Given the description of an element on the screen output the (x, y) to click on. 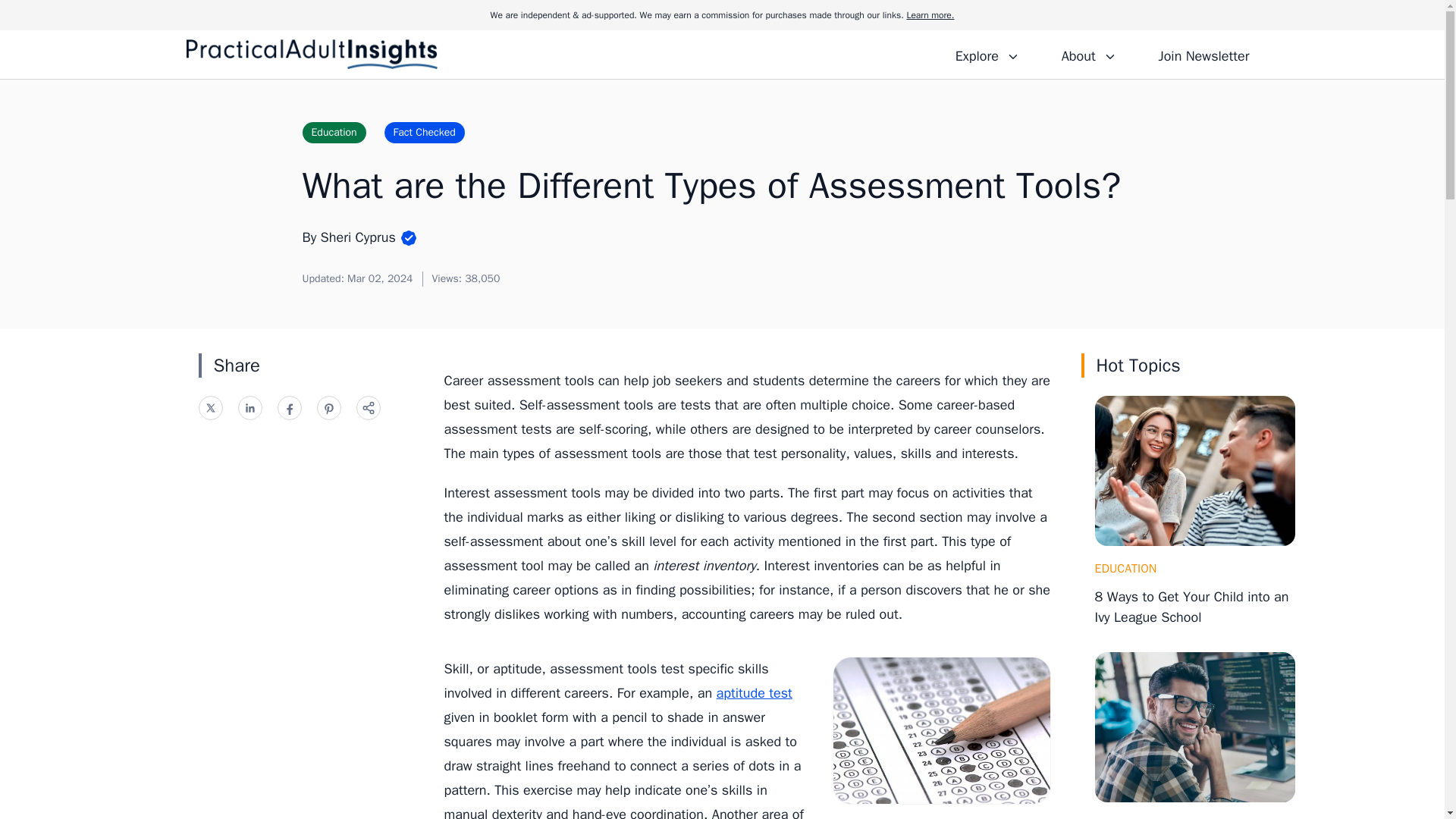
Learn more. (929, 15)
Education (333, 132)
Fact Checked (424, 132)
Explore (986, 54)
About (1088, 54)
Join Newsletter (1202, 54)
aptitude test (754, 692)
